Given the description of an element on the screen output the (x, y) to click on. 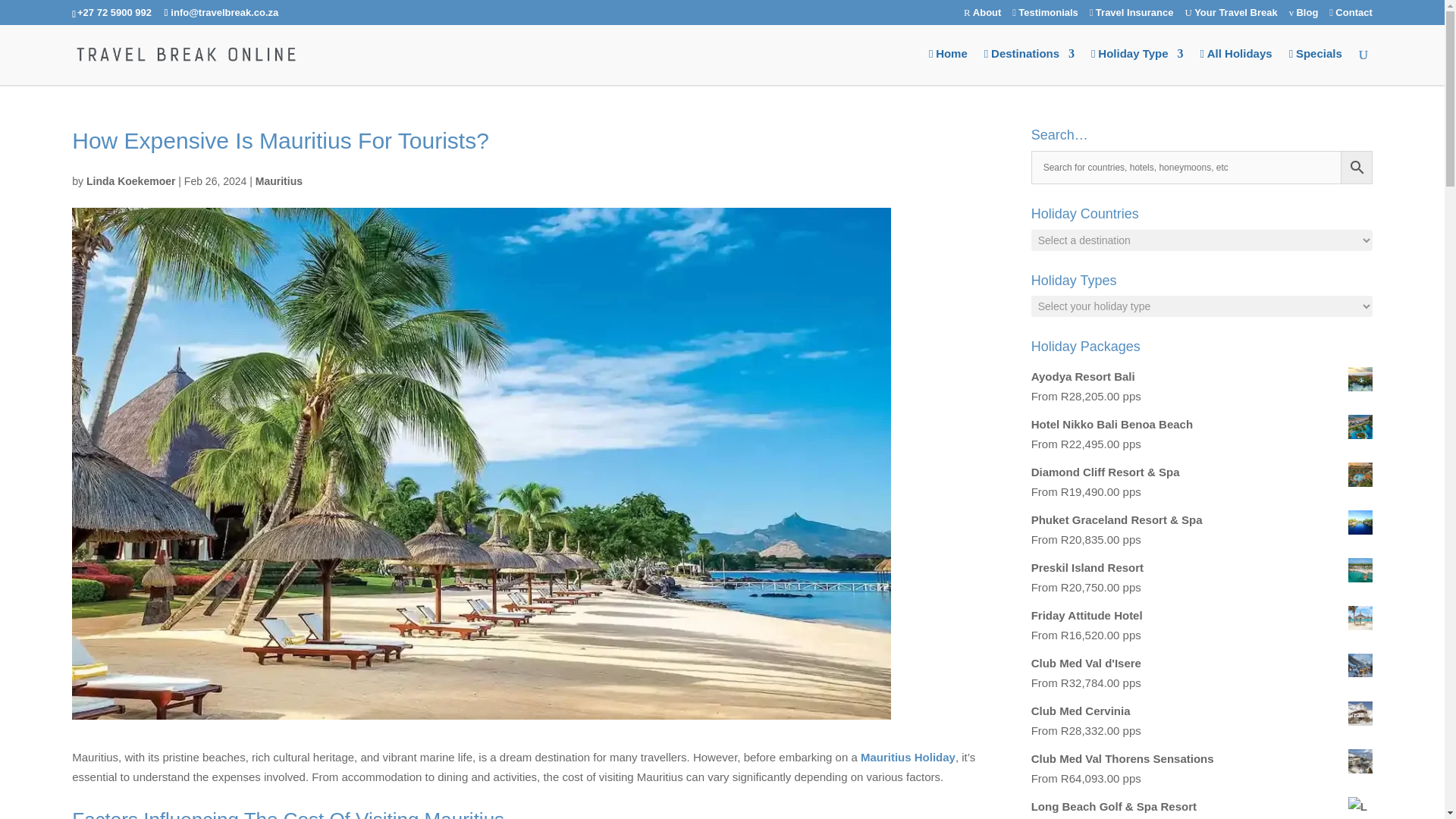
 Home (948, 66)
Posts by Linda Koekemoer (129, 181)
 Destinations (1029, 66)
 Testimonials (1044, 16)
 About (982, 16)
 Travel Insurance (1131, 16)
 Contact (1350, 16)
 Blog (1303, 16)
 Holiday Type (1136, 66)
 Your Travel Break (1230, 16)
